Given the description of an element on the screen output the (x, y) to click on. 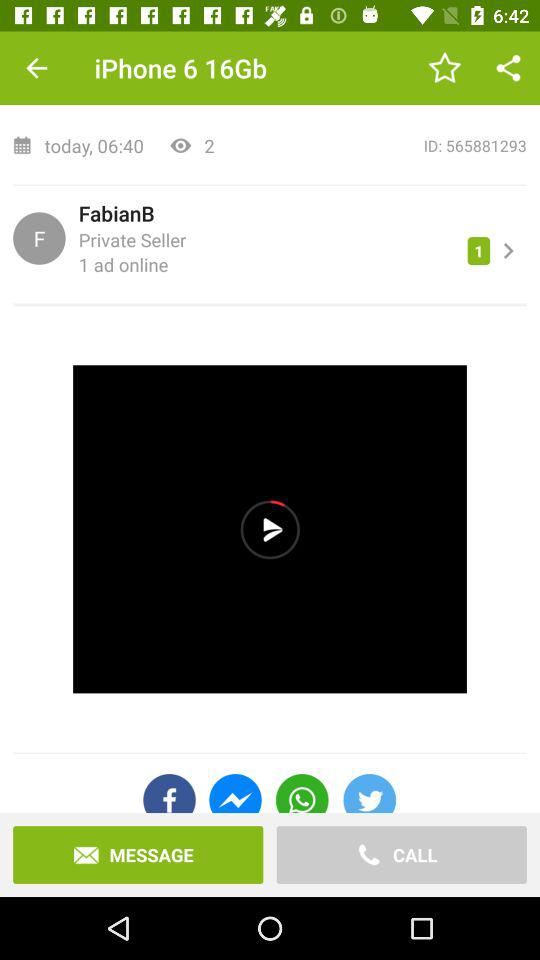
turn on top zustand mit item (270, 69)
